Given the description of an element on the screen output the (x, y) to click on. 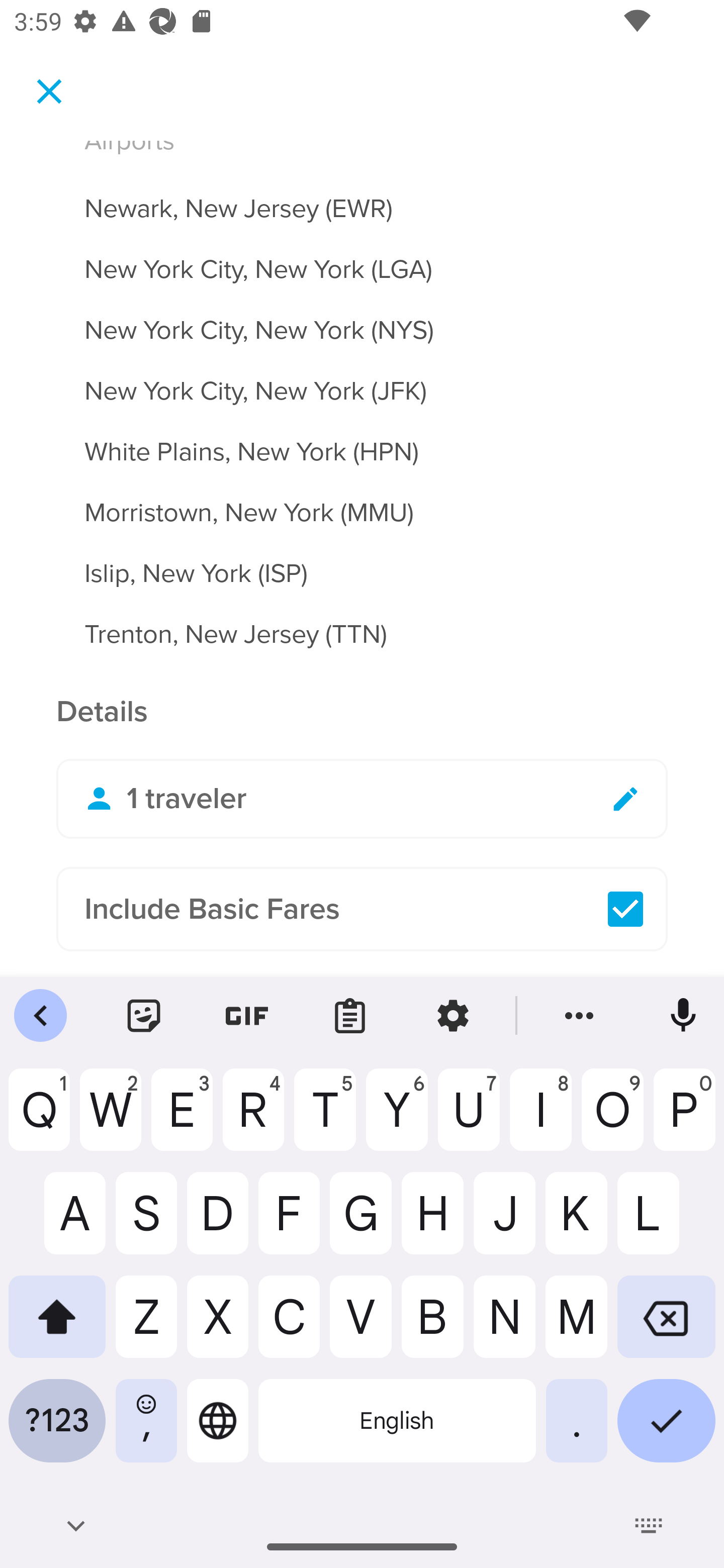
Cancel (49, 90)
Newark, New Jersey (EWR) (361, 196)
New York City, New York (LGA) (361, 257)
New York City, New York (NYS) (361, 318)
New York City, New York (JFK) (361, 379)
White Plains, New York (HPN) (361, 440)
Morristown, New York (MMU) (361, 500)
Islip, New York (ISP) (361, 561)
Trenton, New Jersey (TTN) (361, 634)
1 traveler Edit Travelers (361, 799)
Include Basic Fares (361, 909)
